Given the description of an element on the screen output the (x, y) to click on. 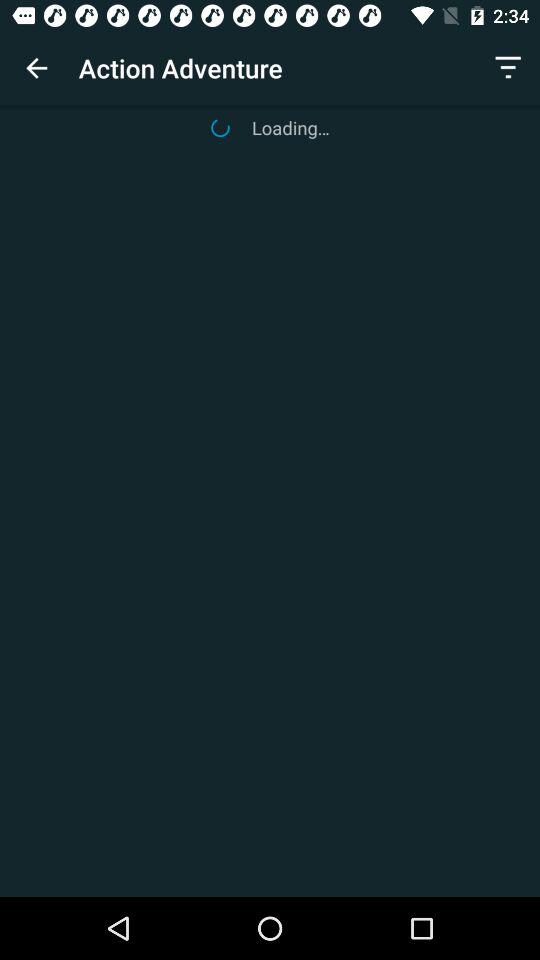
open icon next to action adventure item (508, 67)
